Given the description of an element on the screen output the (x, y) to click on. 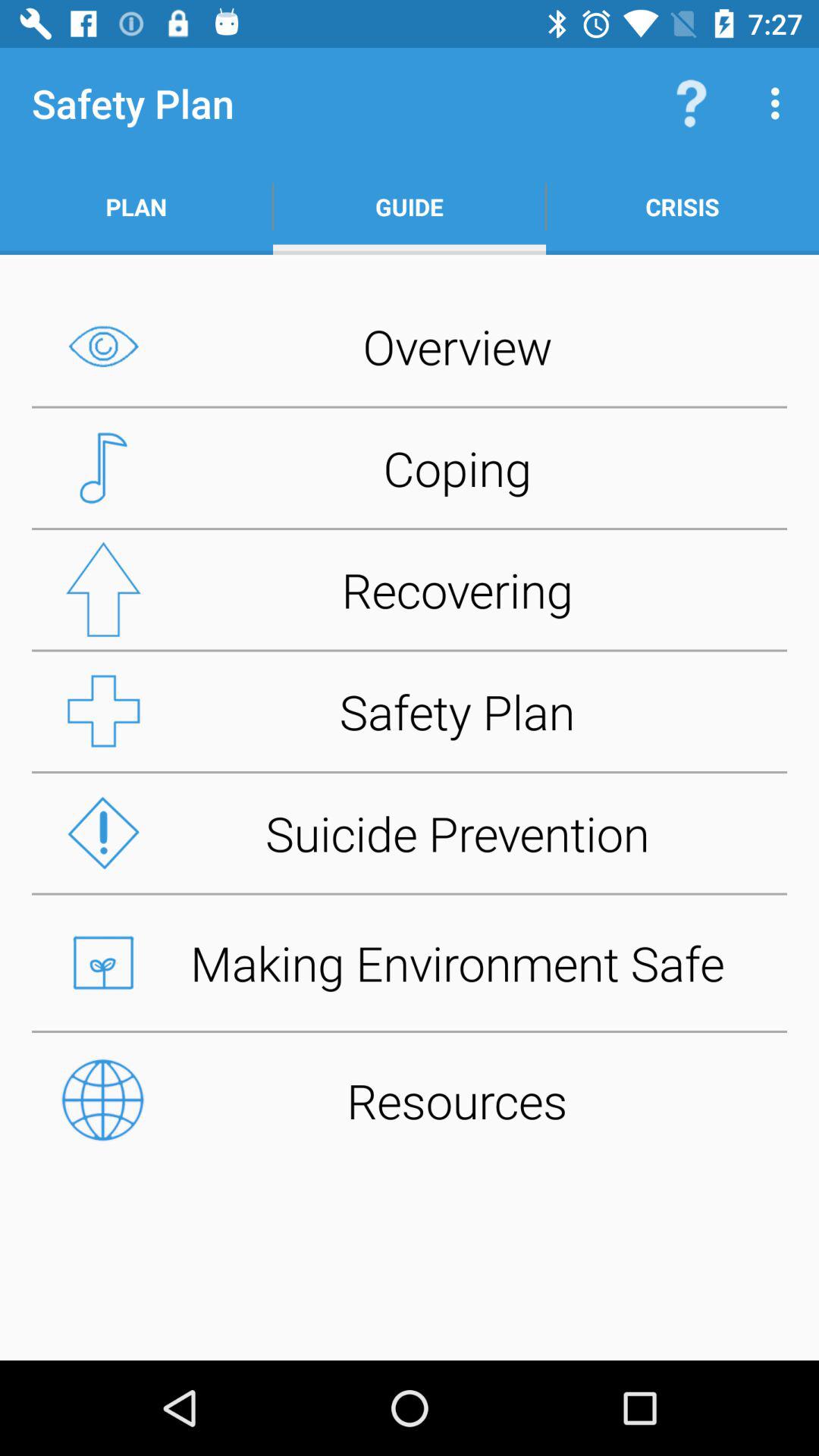
flip to recovering icon (409, 589)
